Given the description of an element on the screen output the (x, y) to click on. 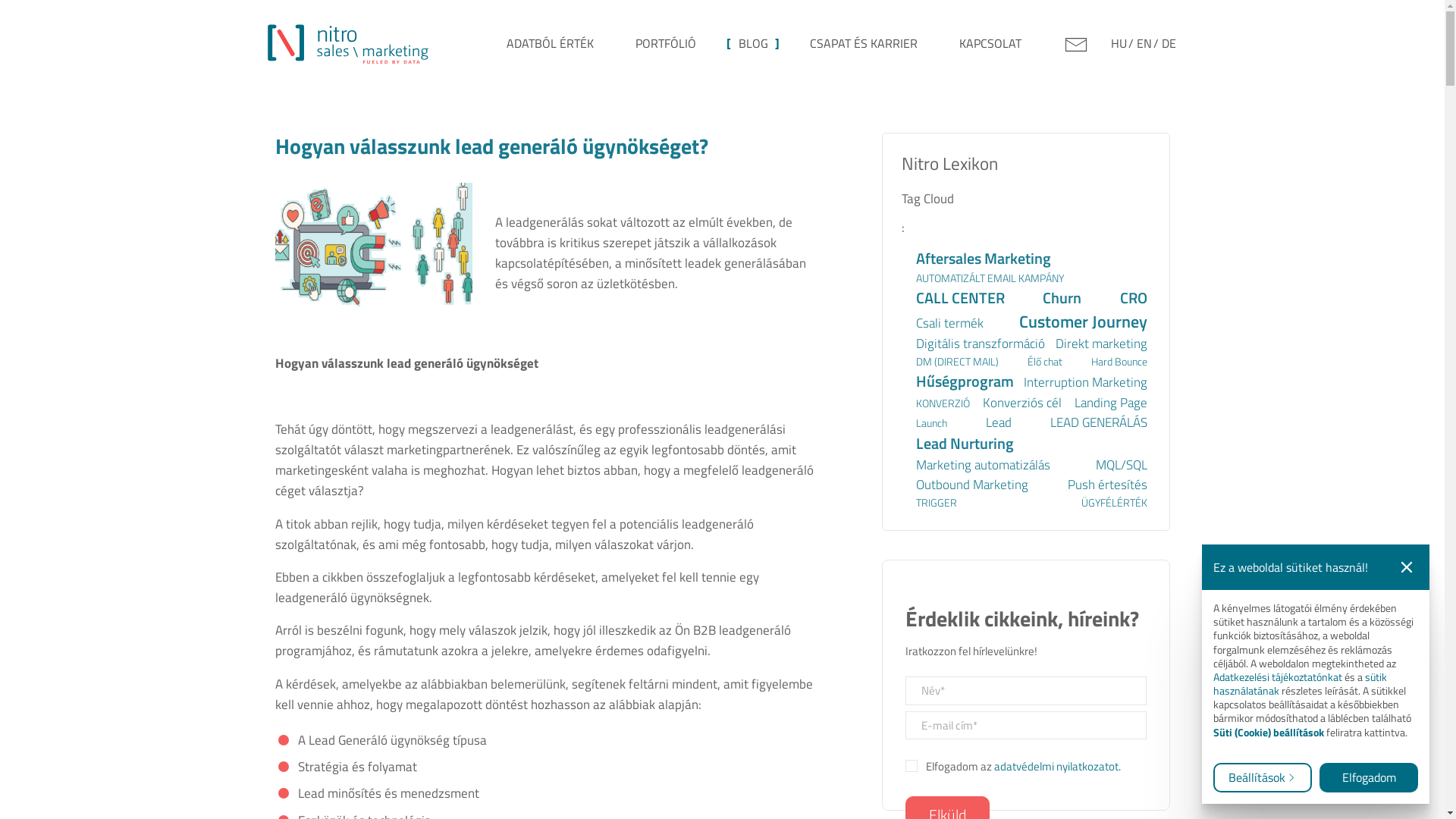
DM (DIRECT MAIL) Element type: text (957, 361)
MQL/SQL Element type: text (1120, 464)
HU Element type: text (1121, 43)
CALL CENTER Element type: text (960, 297)
Churn Element type: text (1061, 297)
Landing Page Element type: text (1109, 402)
Elfogadom Element type: text (1368, 777)
KAPCSOLAT Element type: text (989, 43)
Customer Journey Element type: text (1083, 321)
Nitro Element type: text (346, 41)
DE Element type: text (1168, 43)
BLOG Element type: text (752, 43)
Lead Element type: text (998, 422)
Lead Nurturing Element type: text (964, 443)
Outbound Marketing Element type: text (972, 484)
EN Element type: text (1146, 43)
Launch Element type: text (931, 422)
Interruption Marketing Element type: text (1085, 382)
Aftersales Marketing Element type: text (983, 258)
Direkt marketing Element type: text (1101, 343)
Hard Bounce Element type: text (1118, 361)
TRIGGER Element type: text (936, 502)
CRO Element type: text (1132, 297)
